Given the description of an element on the screen output the (x, y) to click on. 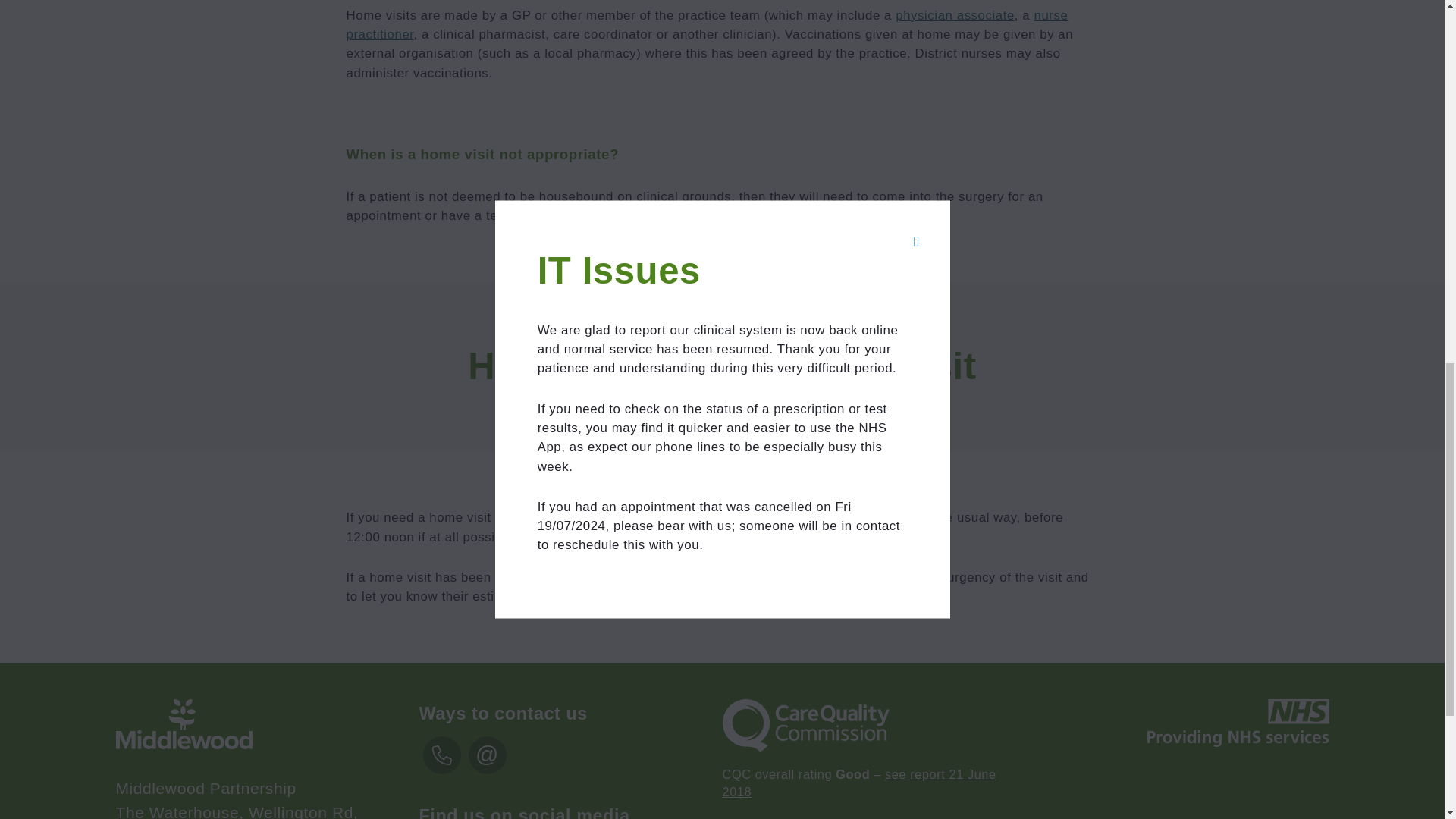
see report 21 June 2018 (858, 782)
nurse practitioner (706, 24)
physician associate (954, 15)
call the surgery (868, 517)
